Given the description of an element on the screen output the (x, y) to click on. 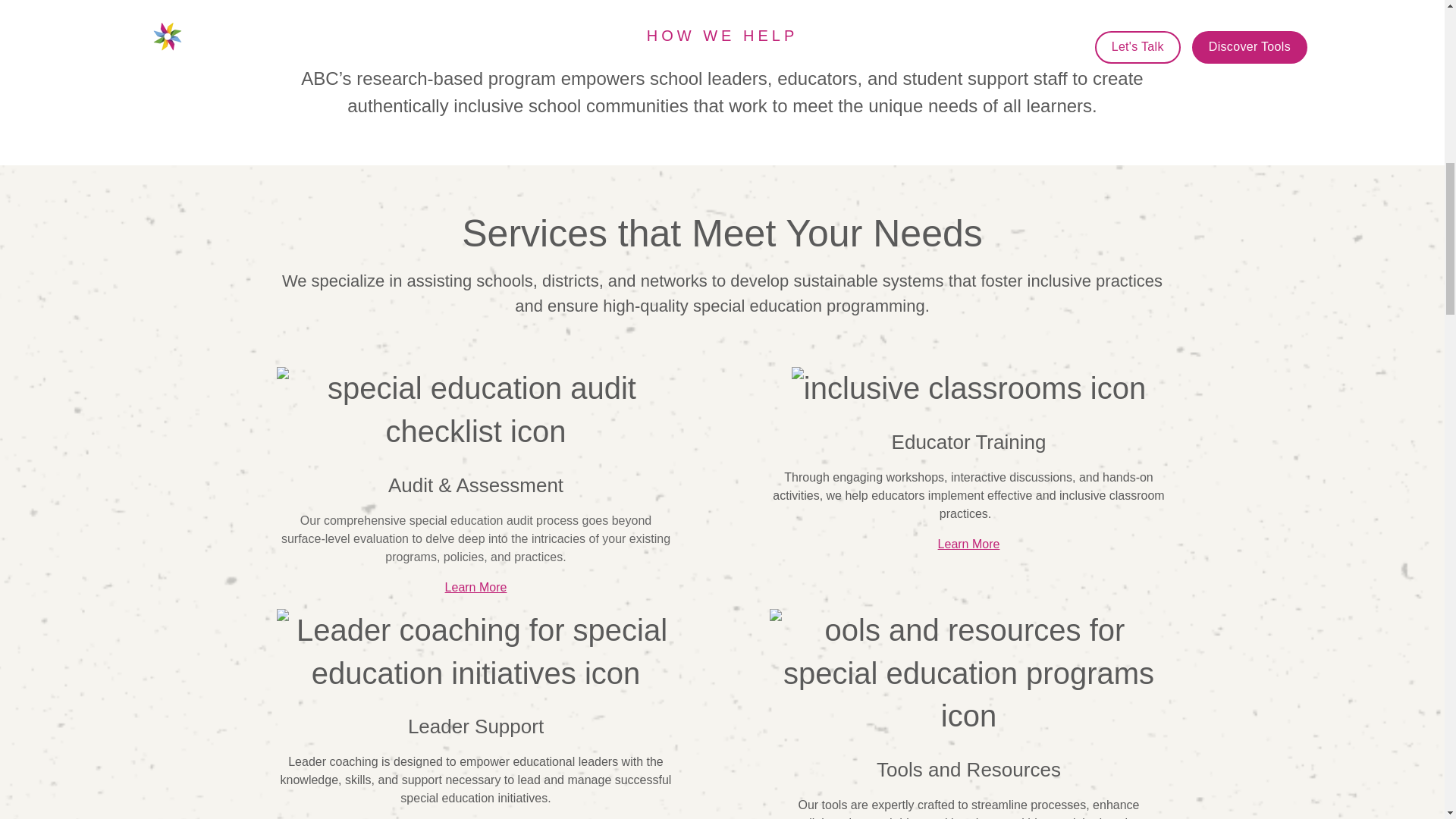
Learn More (968, 543)
Learn More (475, 586)
